Given the description of an element on the screen output the (x, y) to click on. 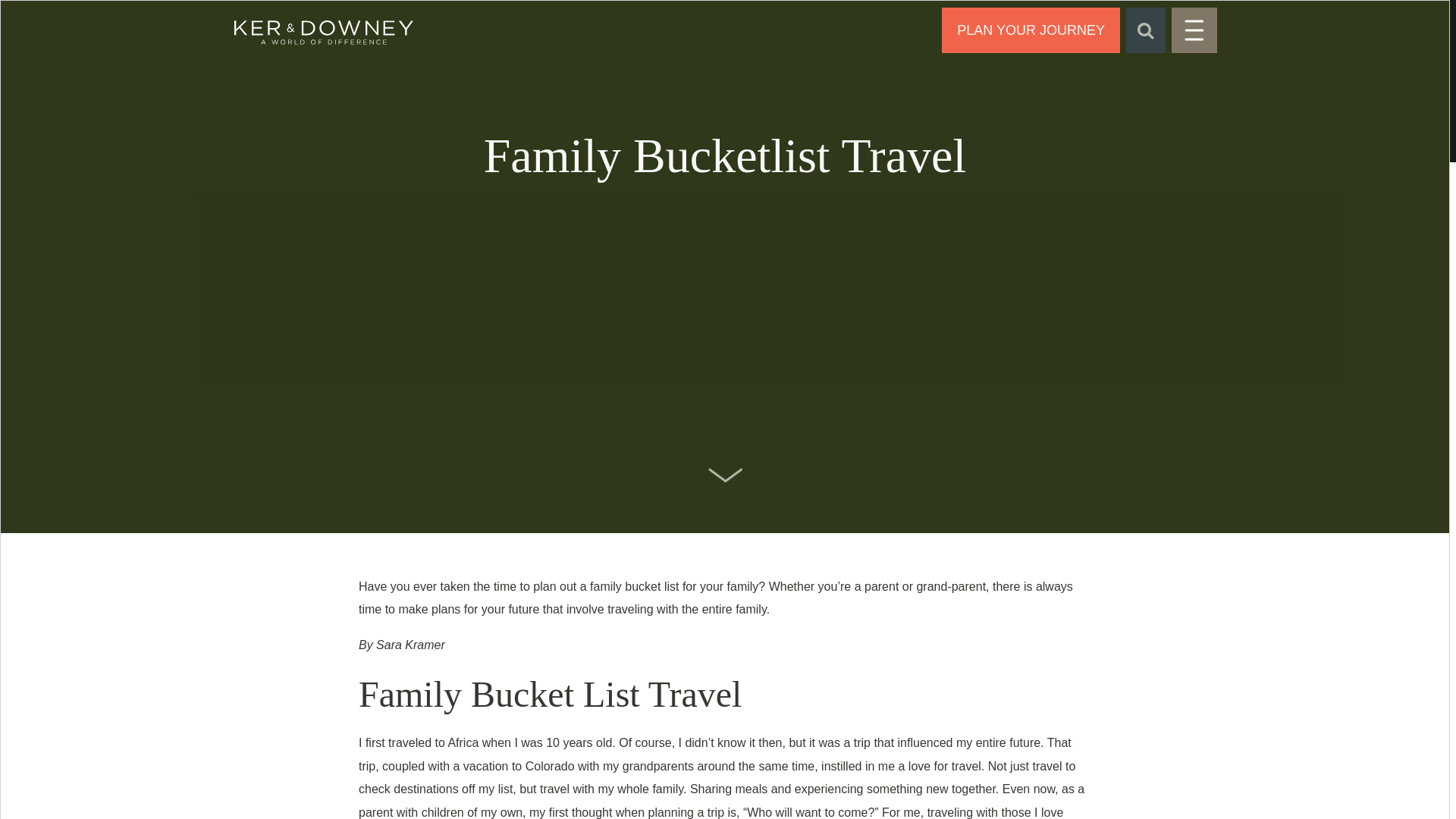
CONTACT (1030, 30)
Menu (1194, 30)
